Given the description of an element on the screen output the (x, y) to click on. 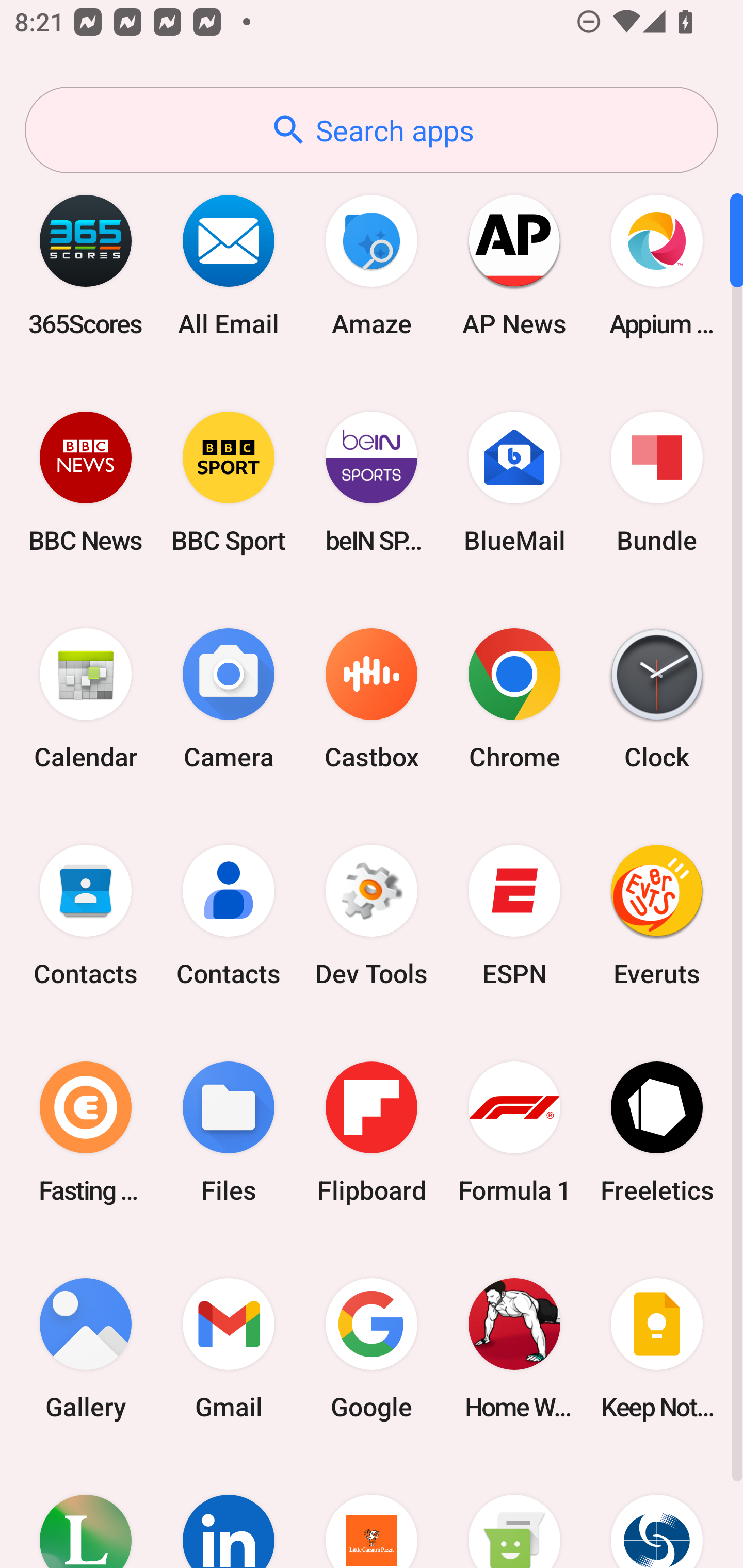
  Search apps (371, 130)
365Scores (85, 264)
All Email (228, 264)
Amaze (371, 264)
AP News (514, 264)
Appium Settings (656, 264)
BBC News (85, 482)
BBC Sport (228, 482)
beIN SPORTS (371, 482)
BlueMail (514, 482)
Bundle (656, 482)
Calendar (85, 699)
Camera (228, 699)
Castbox (371, 699)
Chrome (514, 699)
Clock (656, 699)
Contacts (85, 915)
Contacts (228, 915)
Dev Tools (371, 915)
ESPN (514, 915)
Everuts (656, 915)
Fasting Coach (85, 1131)
Files (228, 1131)
Flipboard (371, 1131)
Formula 1 (514, 1131)
Freeletics (656, 1131)
Gallery (85, 1348)
Gmail (228, 1348)
Google (371, 1348)
Home Workout (514, 1348)
Keep Notes (656, 1348)
